Given the description of an element on the screen output the (x, y) to click on. 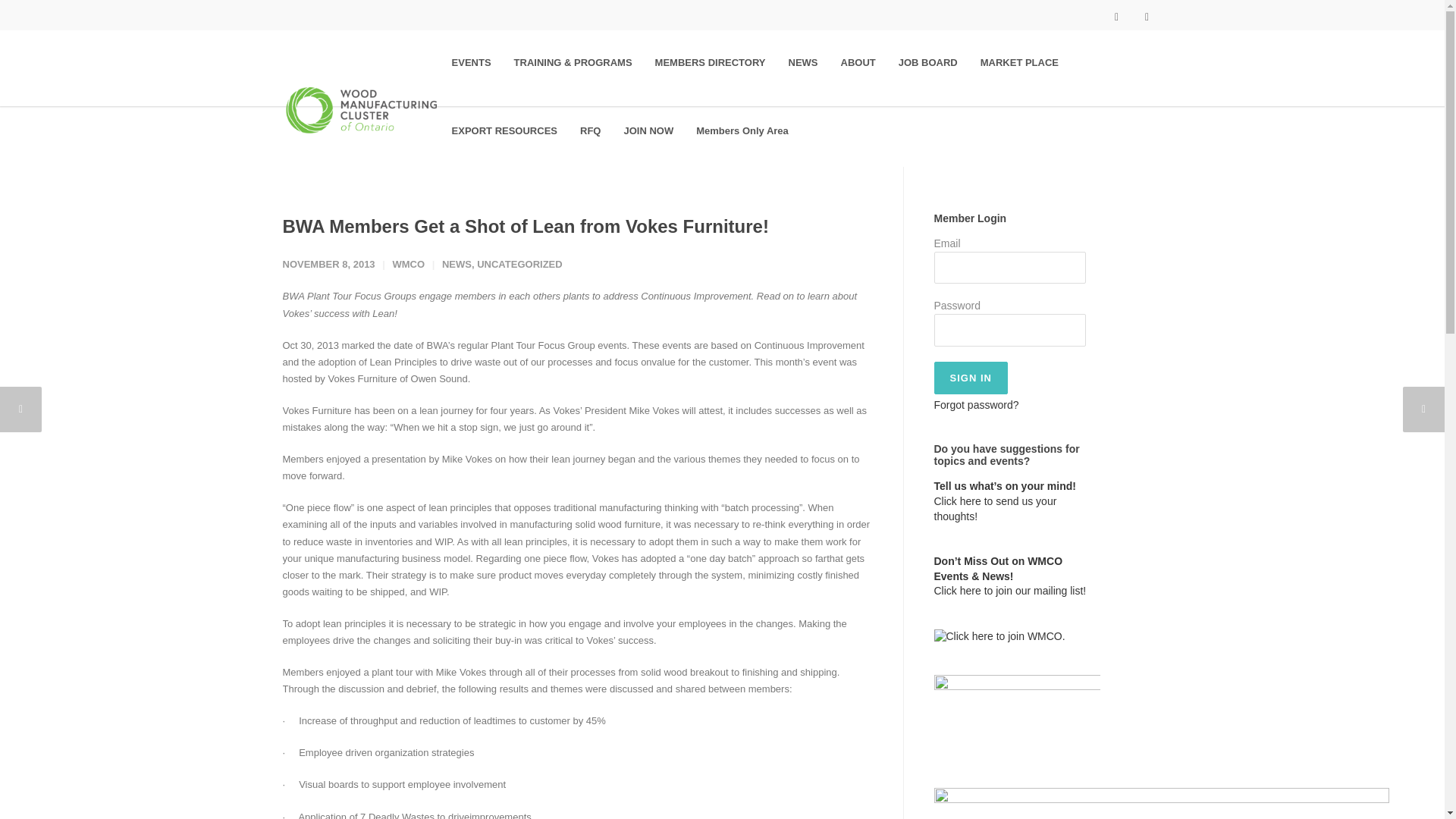
RFQ (590, 131)
Facebook (1115, 15)
NEWS (802, 62)
View all posts by WMCO (408, 264)
EVENTS (471, 62)
EXPORT RESOURCES (505, 131)
JOB BOARD (927, 62)
MARKET PLACE (1019, 62)
LinkedIn (1146, 15)
Sign In (970, 377)
